Given the description of an element on the screen output the (x, y) to click on. 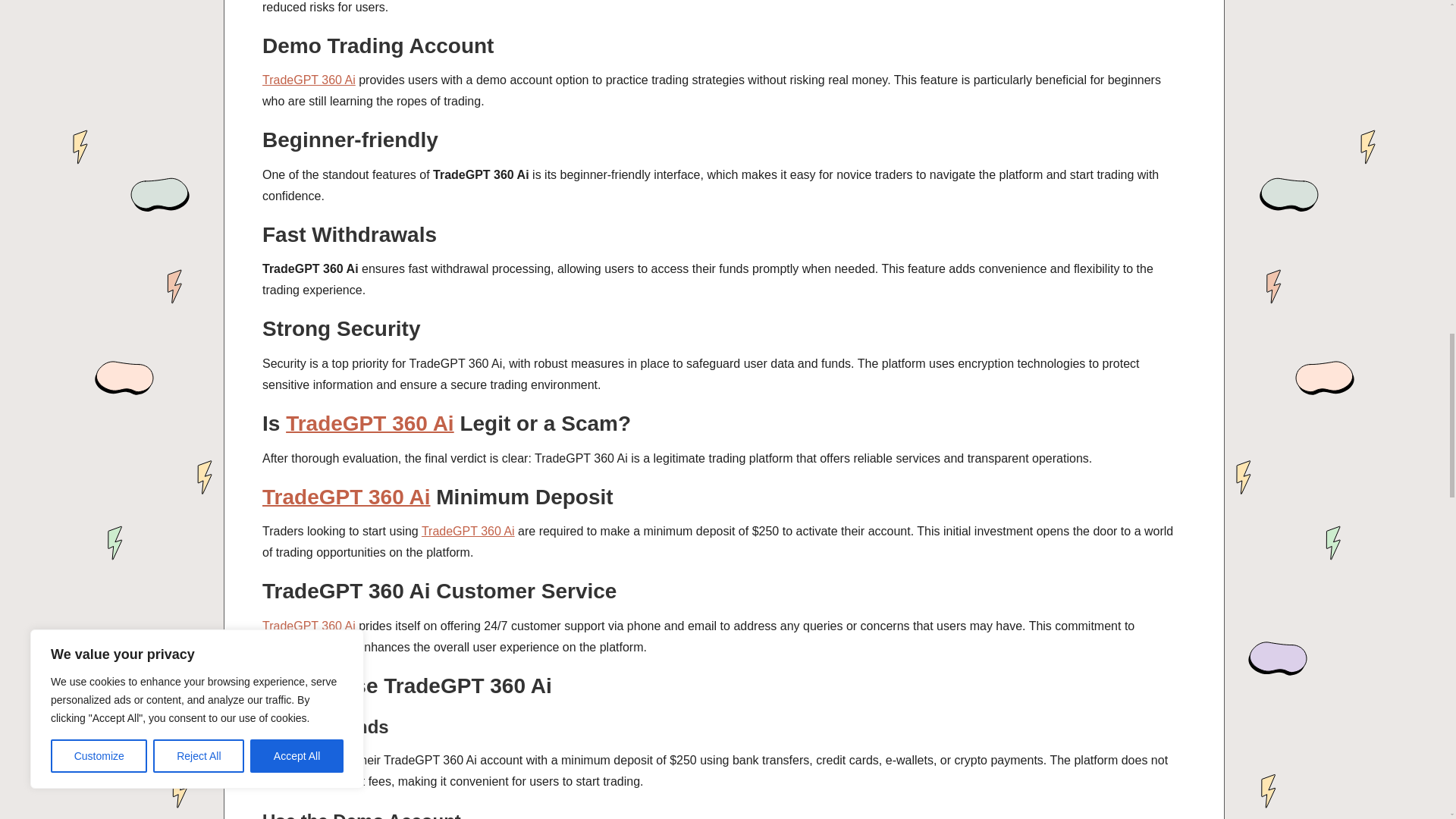
TradeGPT 360 Ai (308, 79)
